Given the description of an element on the screen output the (x, y) to click on. 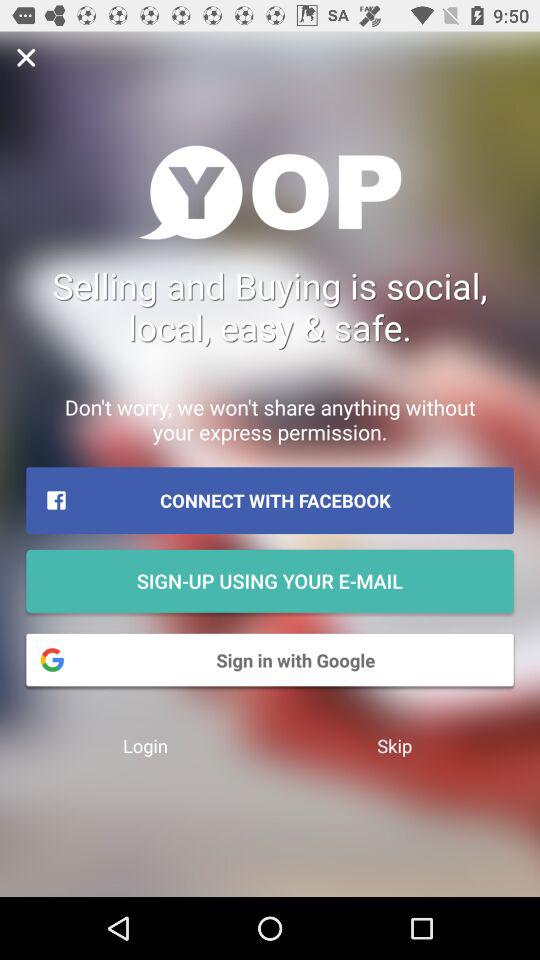
delete (26, 57)
